Given the description of an element on the screen output the (x, y) to click on. 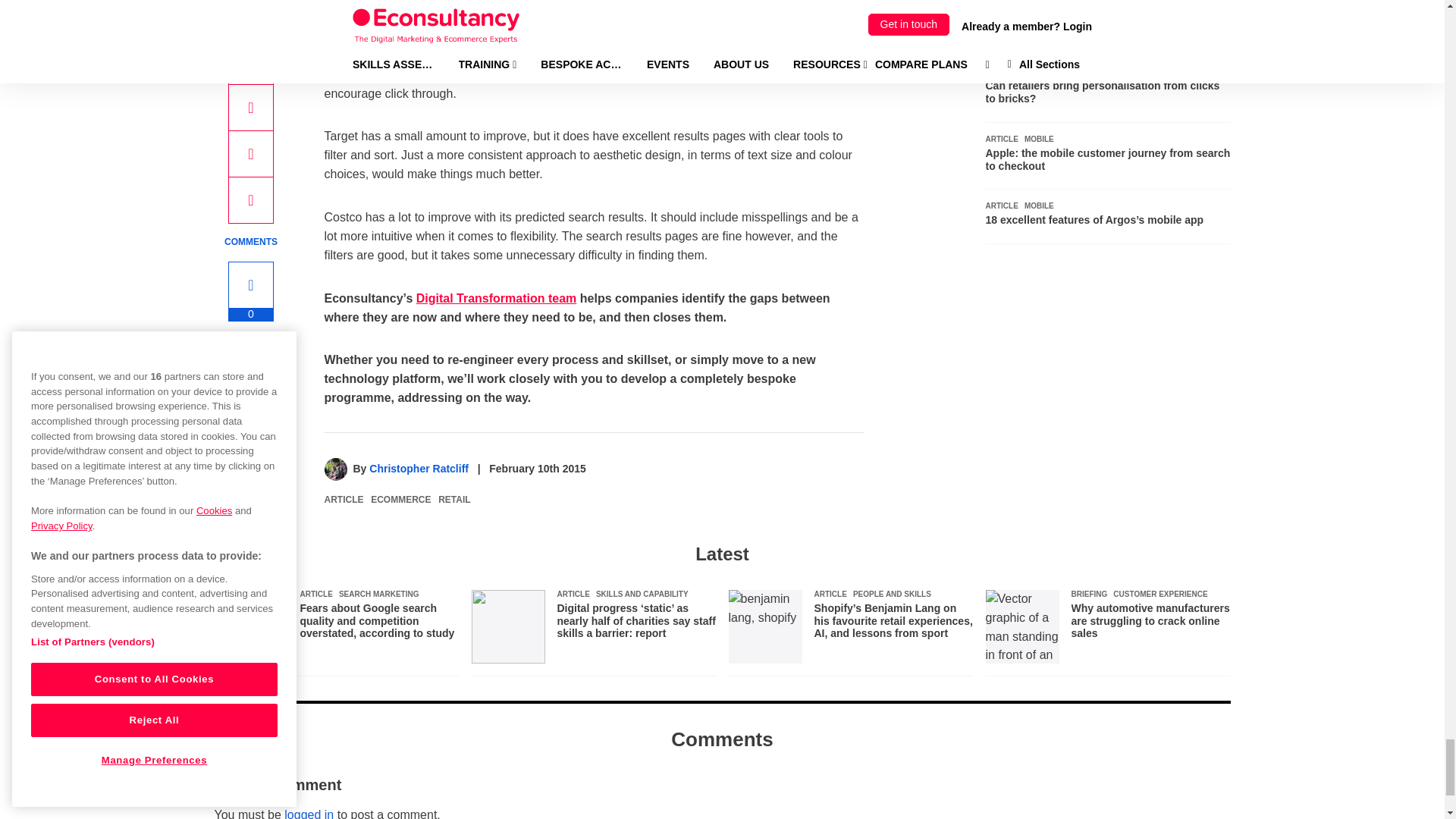
Posts by Christopher Ratcliff (418, 468)
